Given the description of an element on the screen output the (x, y) to click on. 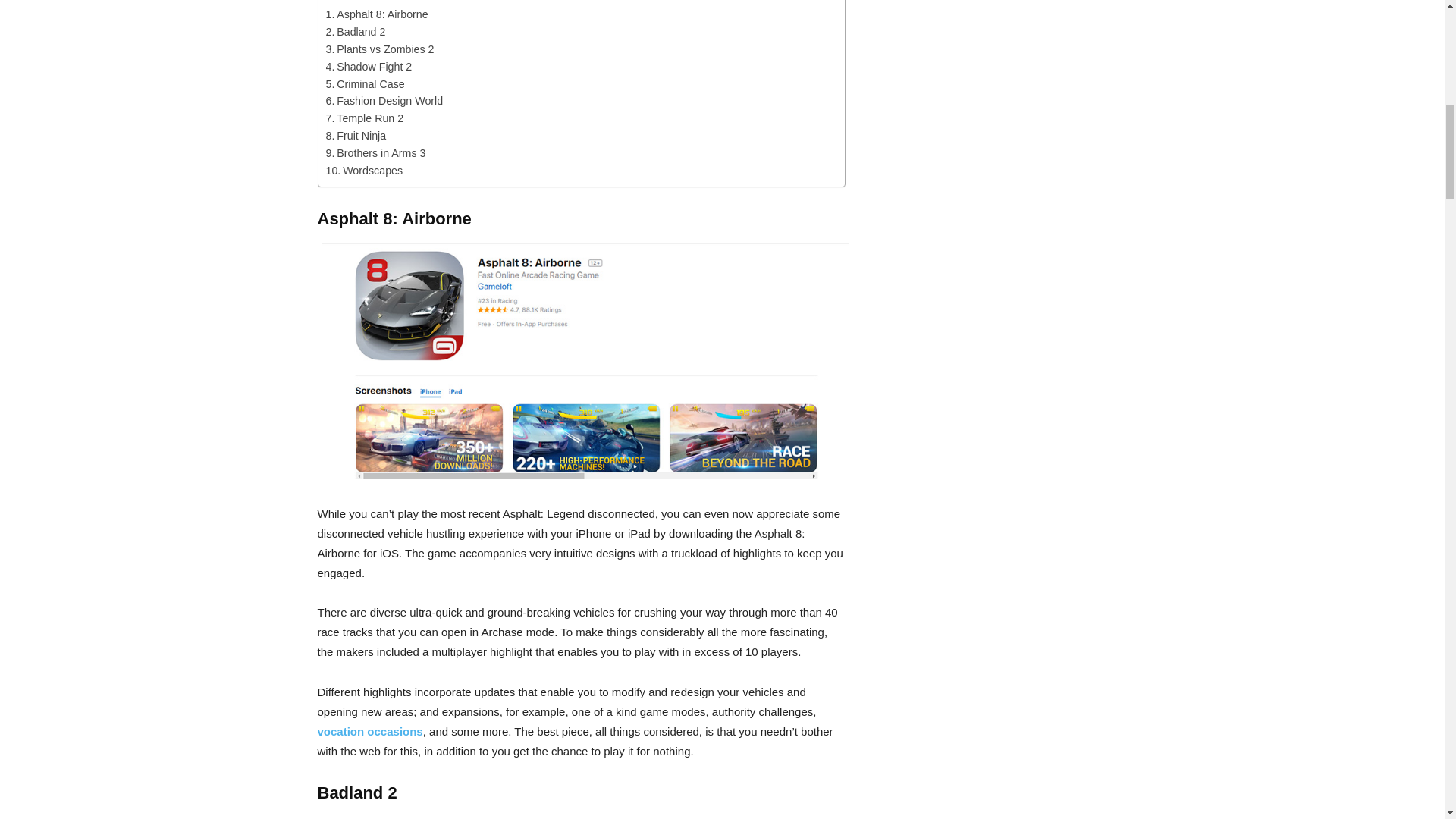
Badland 2 (355, 31)
Asphalt 8: Airborne (377, 14)
